Given the description of an element on the screen output the (x, y) to click on. 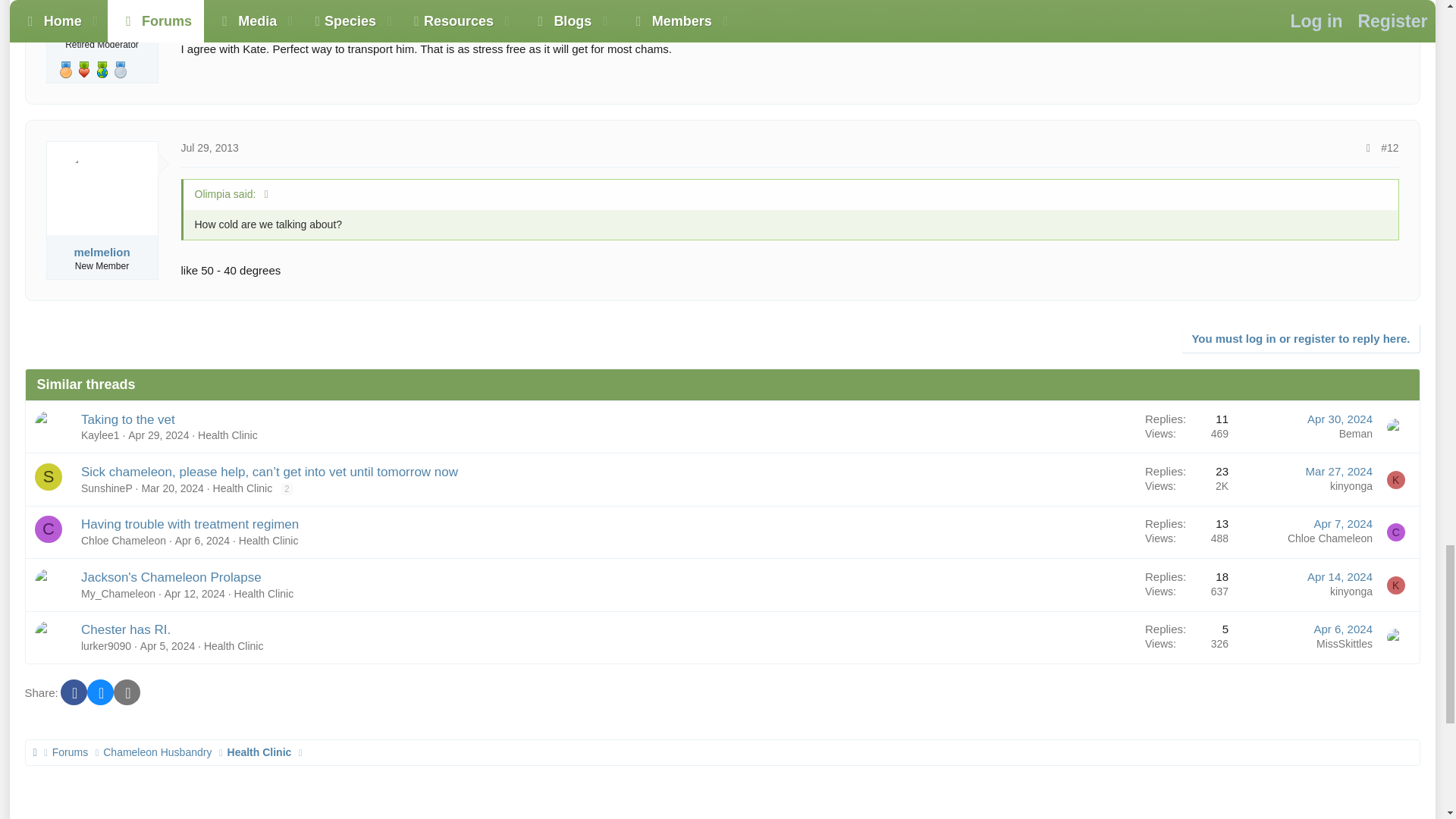
First message reaction score: 0 (1187, 426)
Jul 29, 2013 at 6:15 PM (209, 147)
Apr 29, 2024 at 1:04 AM (158, 435)
